Given the description of an element on the screen output the (x, y) to click on. 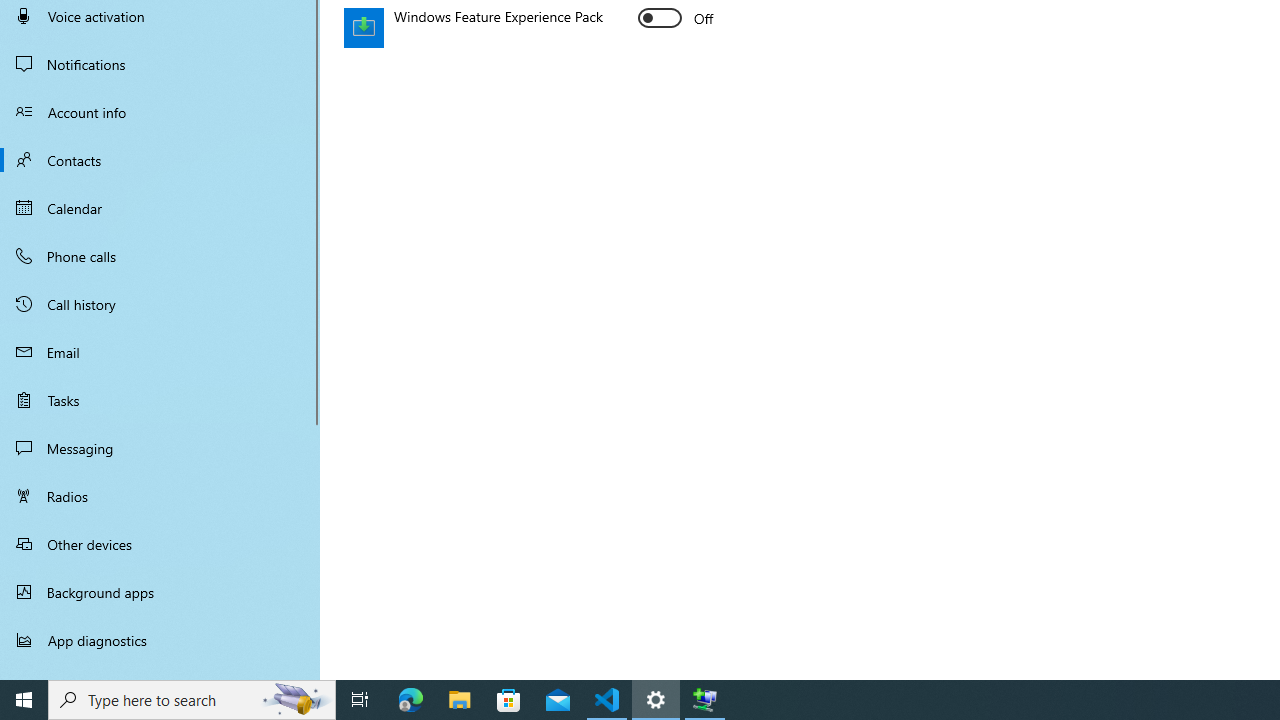
Messaging (160, 448)
Phone calls (160, 255)
Call history (160, 304)
Email (160, 351)
Extensible Wizards Host Process - 1 running window (704, 699)
Background apps (160, 592)
Radios (160, 495)
Visual Studio Code - 1 running window (607, 699)
Start (24, 699)
Task View (359, 699)
Other devices (160, 543)
Notifications (160, 63)
Microsoft Store (509, 699)
Contacts (160, 160)
